Given the description of an element on the screen output the (x, y) to click on. 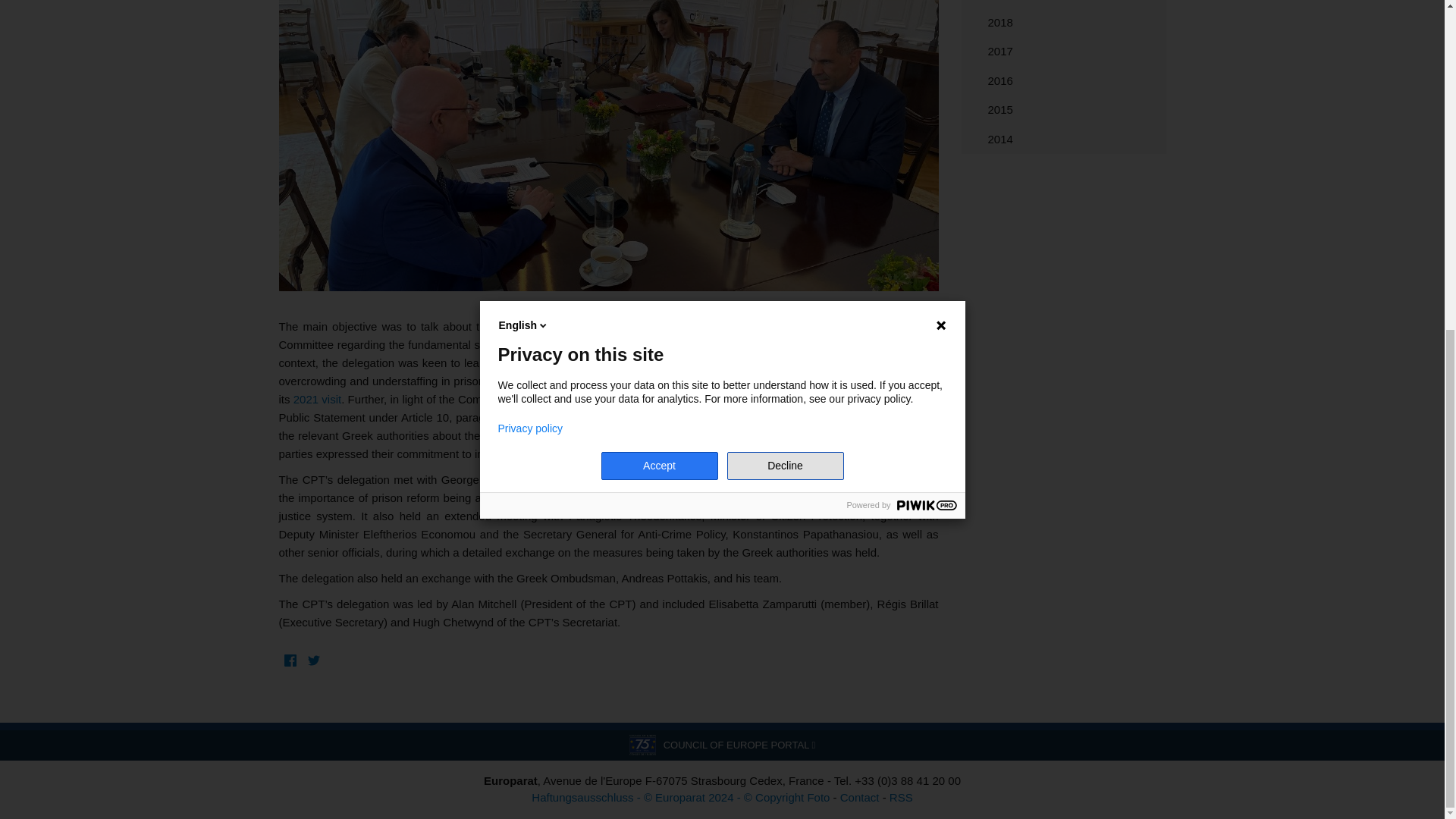
Twitter (312, 661)
Facebook (290, 661)
